Given the description of an element on the screen output the (x, y) to click on. 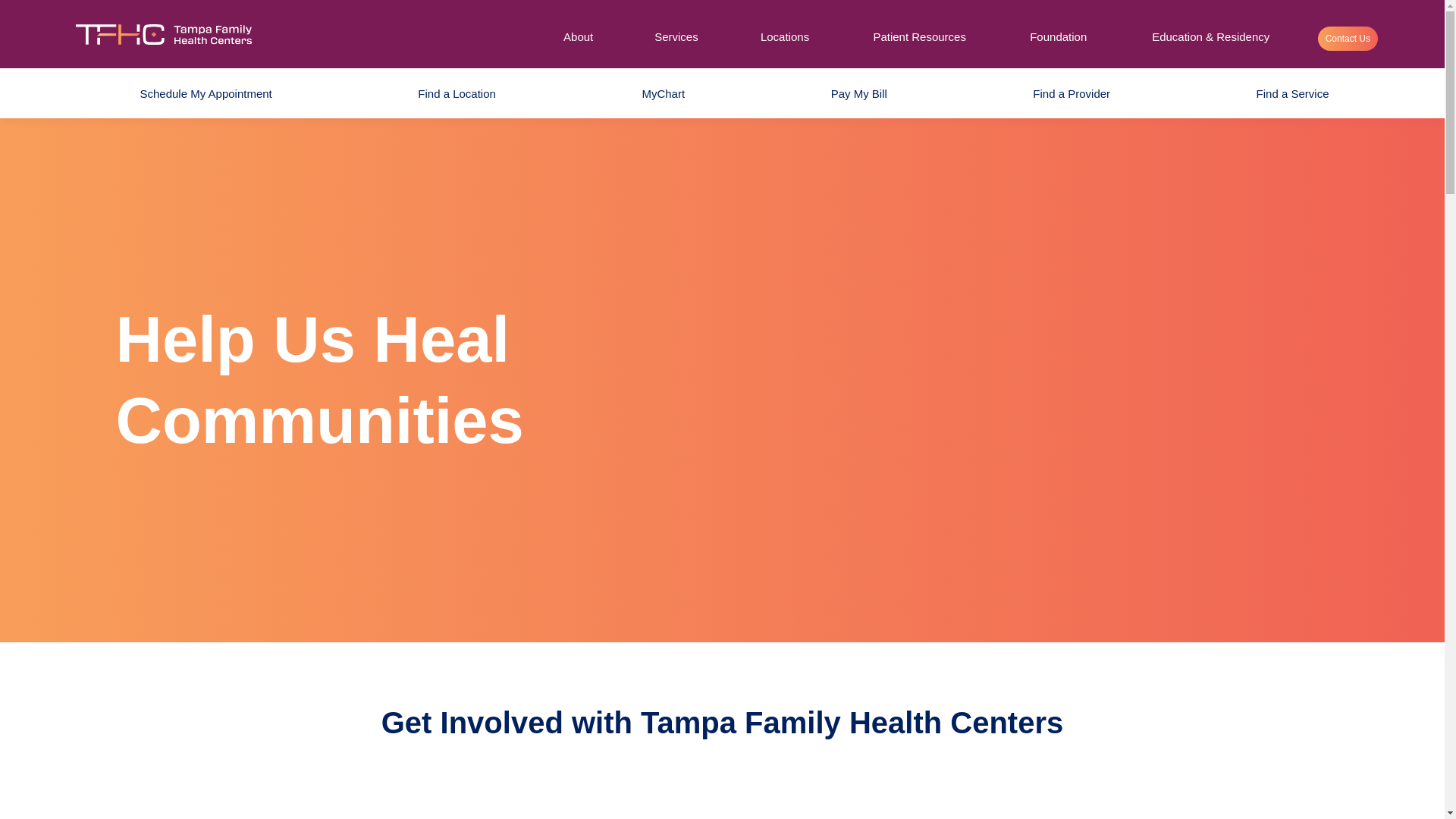
MyChart (650, 92)
Pay My Bill (846, 92)
Contact Us (1347, 38)
Schedule My Appointment (192, 92)
Find a Service (1280, 92)
About (578, 33)
MyChart (650, 92)
Locations (785, 33)
Contact Us (1347, 38)
Services (676, 33)
